Given the description of an element on the screen output the (x, y) to click on. 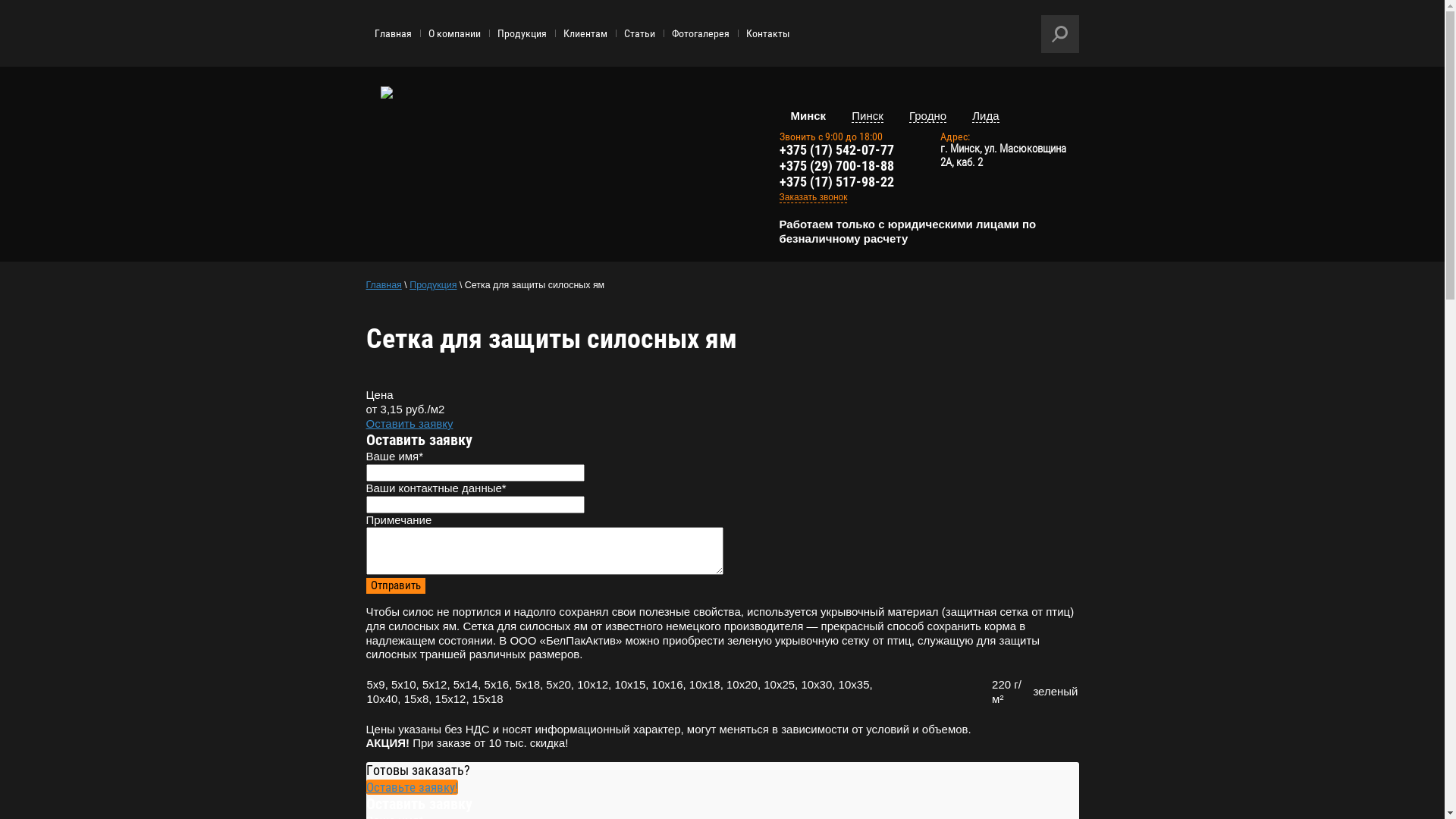
+375 (17) 517-98-22 Element type: text (836, 181)
+375 (17) 542-07-77 Element type: text (836, 149)
+375 (29) 700-18-88 Element type: text (836, 165)
